Given the description of an element on the screen output the (x, y) to click on. 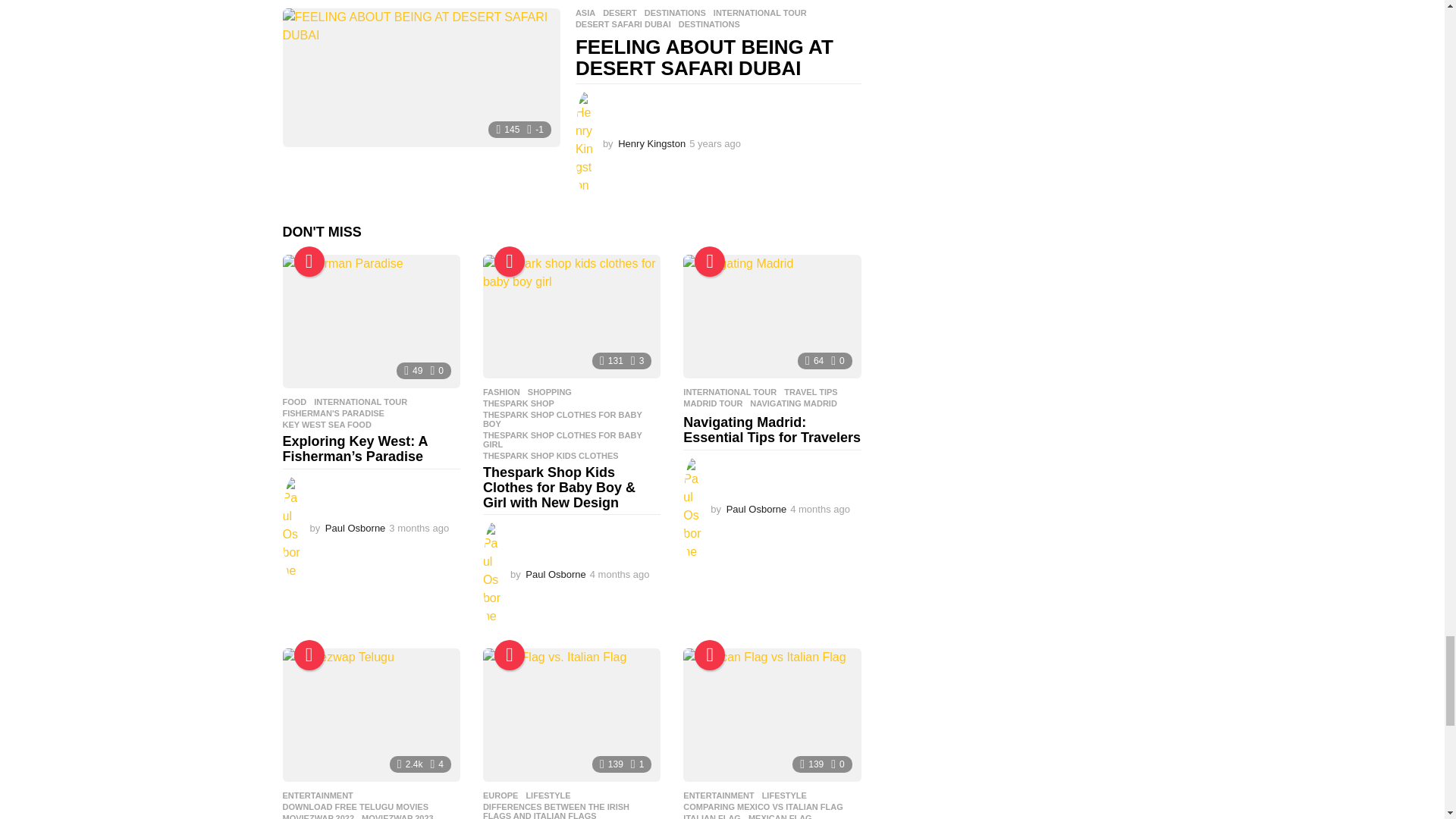
Popular (509, 261)
FEELING ABOUT BEING AT DESERT SAFARI DUBAI (420, 77)
Popular (309, 261)
